Given the description of an element on the screen output the (x, y) to click on. 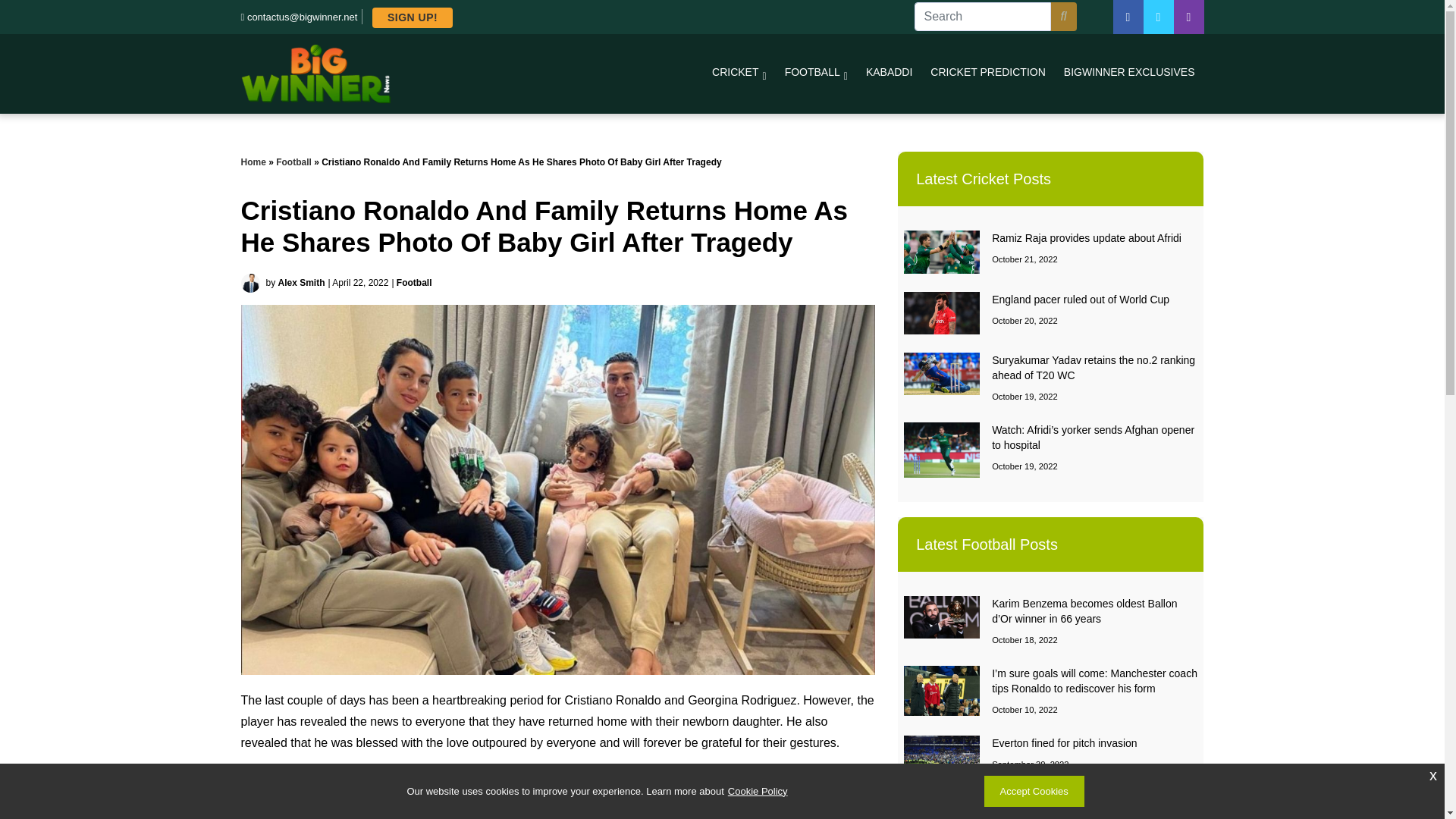
Suryakumar Yadav retains the no.2 ranking ahead of T20 WC (1093, 367)
SIGN UP! (412, 17)
Football (414, 282)
KABADDI (889, 71)
CRICKET (739, 73)
Everton fined for pitch invasion (1064, 743)
BIGWINNER EXCLUSIVES (1129, 71)
Alex Smith (301, 282)
Spain drops all 15 players, coach not resigning (1078, 807)
FOOTBALL (816, 73)
CRICKET PREDICTION (987, 71)
England pacer ruled out of World Cup (1080, 299)
Football (293, 162)
Home (253, 162)
Ramiz Raja provides update about Afridi (1085, 237)
